Given the description of an element on the screen output the (x, y) to click on. 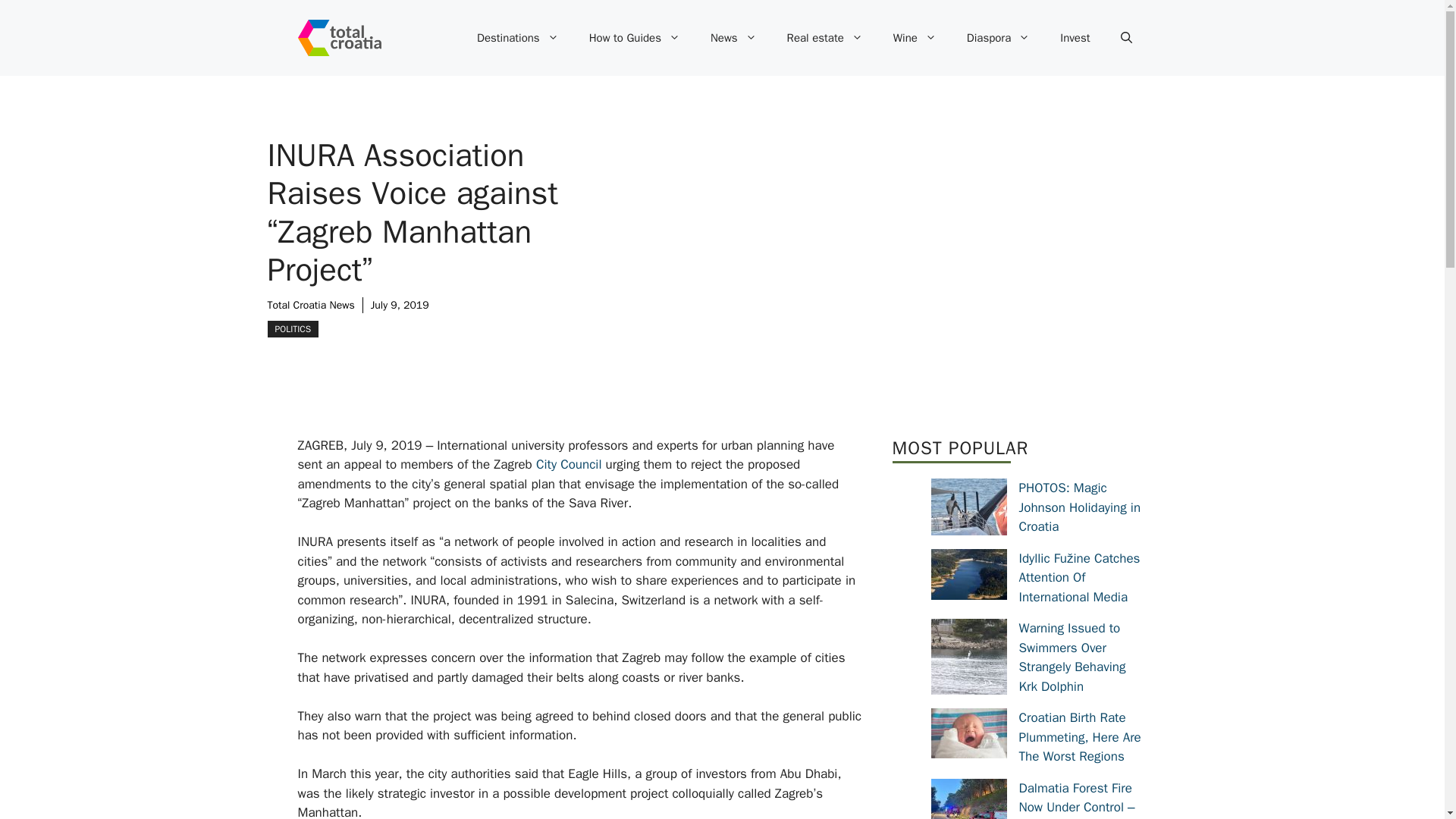
News (733, 37)
Destinations (517, 37)
Diaspora (998, 37)
Invest (1075, 37)
How to Guides (634, 37)
Real estate (824, 37)
Wine (914, 37)
